Given the description of an element on the screen output the (x, y) to click on. 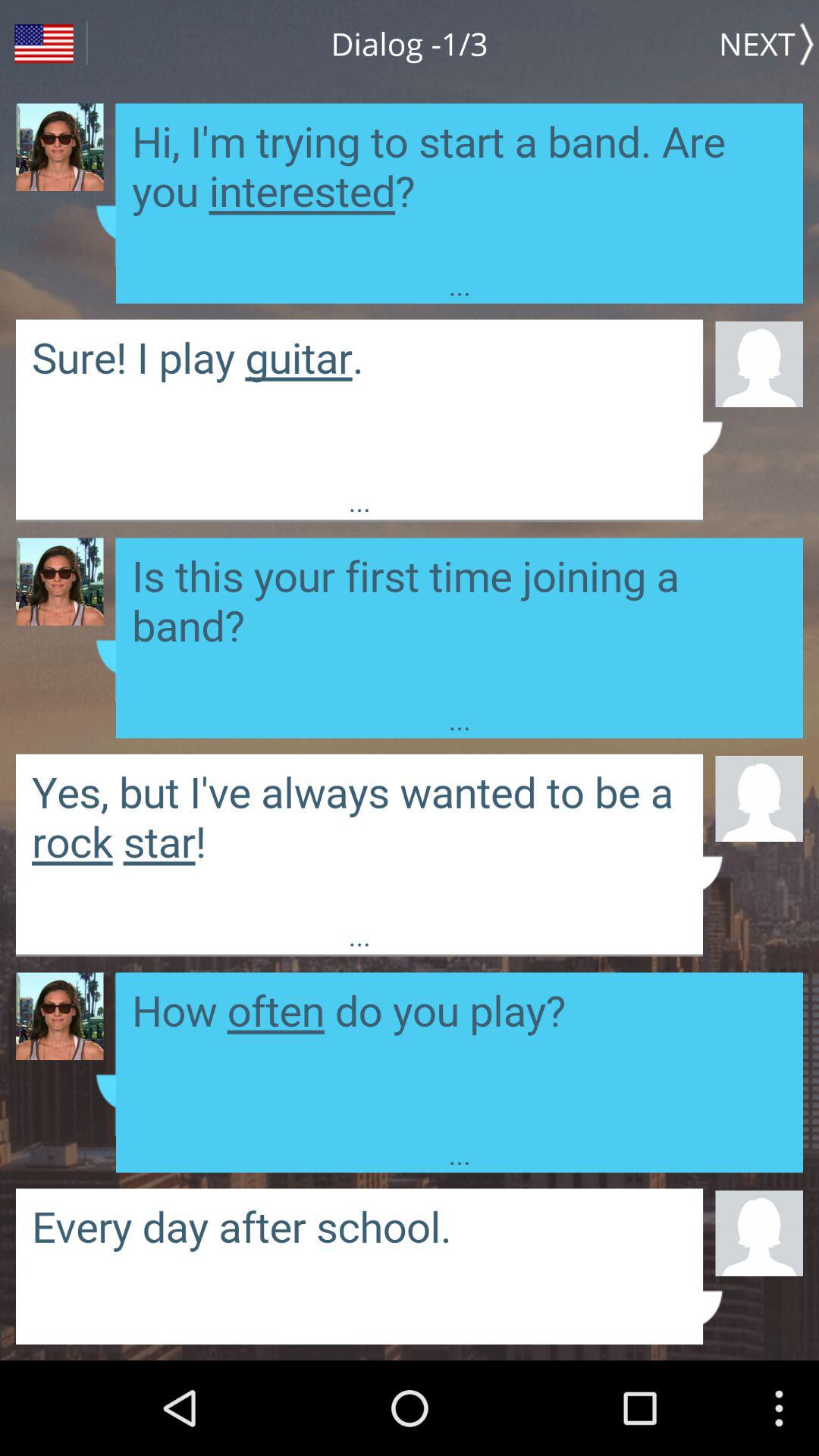
select country (43, 43)
